Given the description of an element on the screen output the (x, y) to click on. 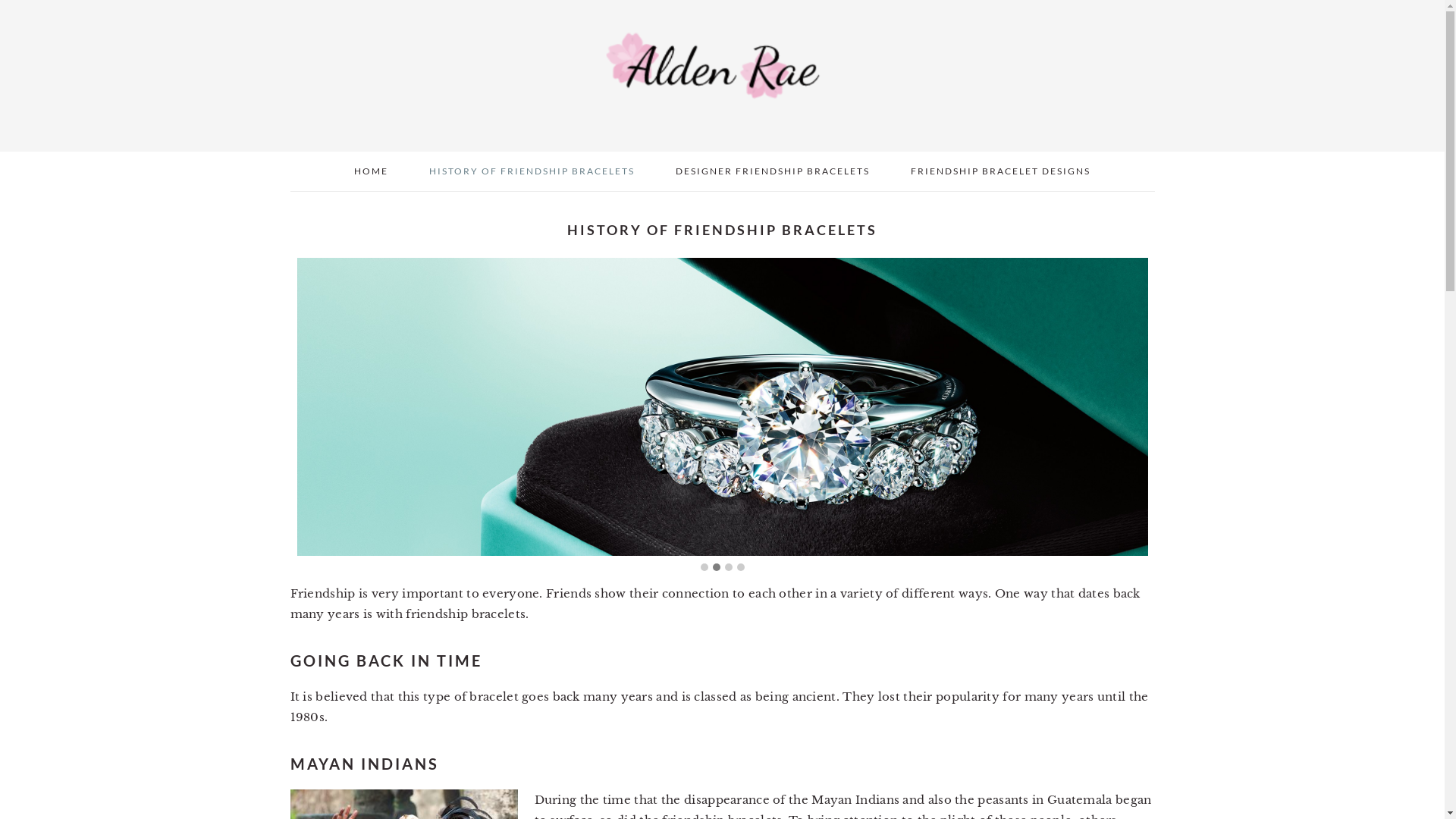
DESIGNER FRIENDSHIP BRACELETS Element type: text (772, 171)
ALDENRAE.CA Element type: text (721, 75)
HOME Element type: text (371, 171)
Skip to main content Element type: text (0, 0)
FRIENDSHIP BRACELET DESIGNS Element type: text (1000, 171)
HISTORY OF FRIENDSHIP BRACELETS Element type: text (531, 171)
